Given the description of an element on the screen output the (x, y) to click on. 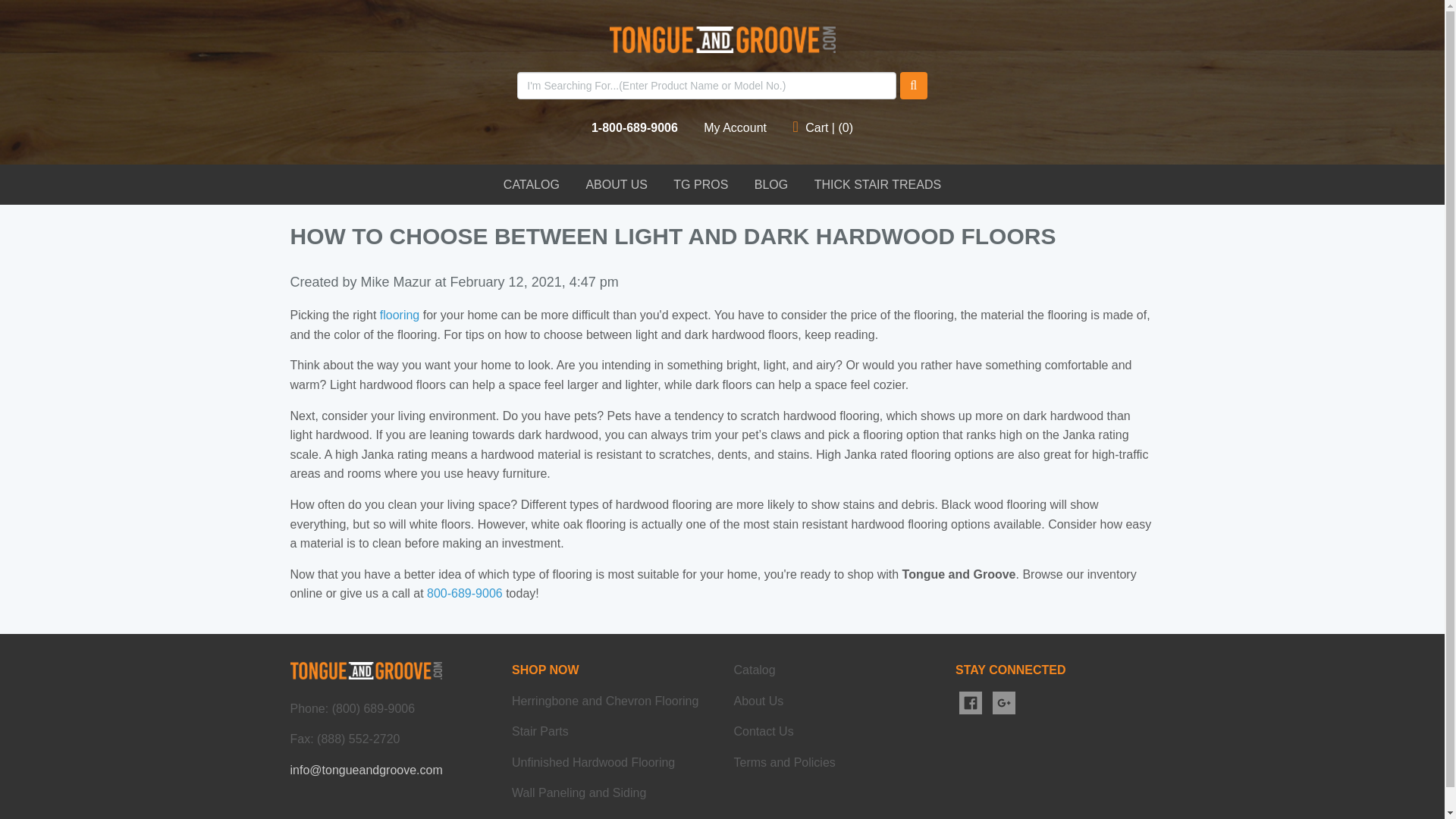
SHOP NOW (545, 669)
Custom Flooring (399, 314)
Catalog (754, 669)
Herringbone and Chevron Flooring (605, 700)
Custom Hardwood Flooring (464, 593)
My Account (735, 127)
THICK STAIR TREADS (877, 184)
ABOUT US (616, 184)
Stair Parts (540, 730)
Unfinished Hardwood Flooring (593, 762)
CATALOG (531, 184)
BLOG (770, 184)
1-800-689-9006 (633, 127)
flooring (399, 314)
800-689-9006 (464, 593)
